Given the description of an element on the screen output the (x, y) to click on. 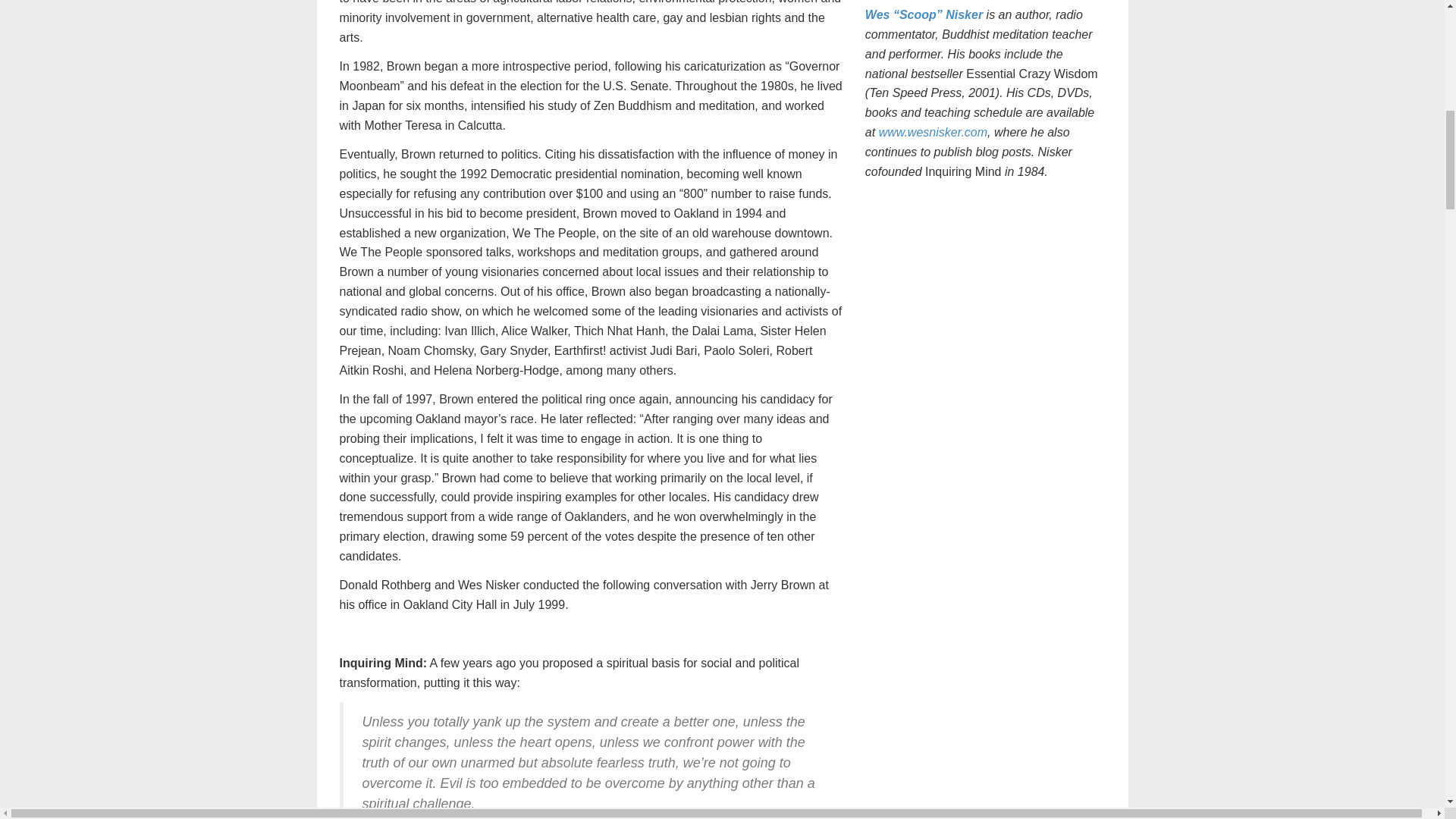
www.wesnisker.com (933, 132)
